Given the description of an element on the screen output the (x, y) to click on. 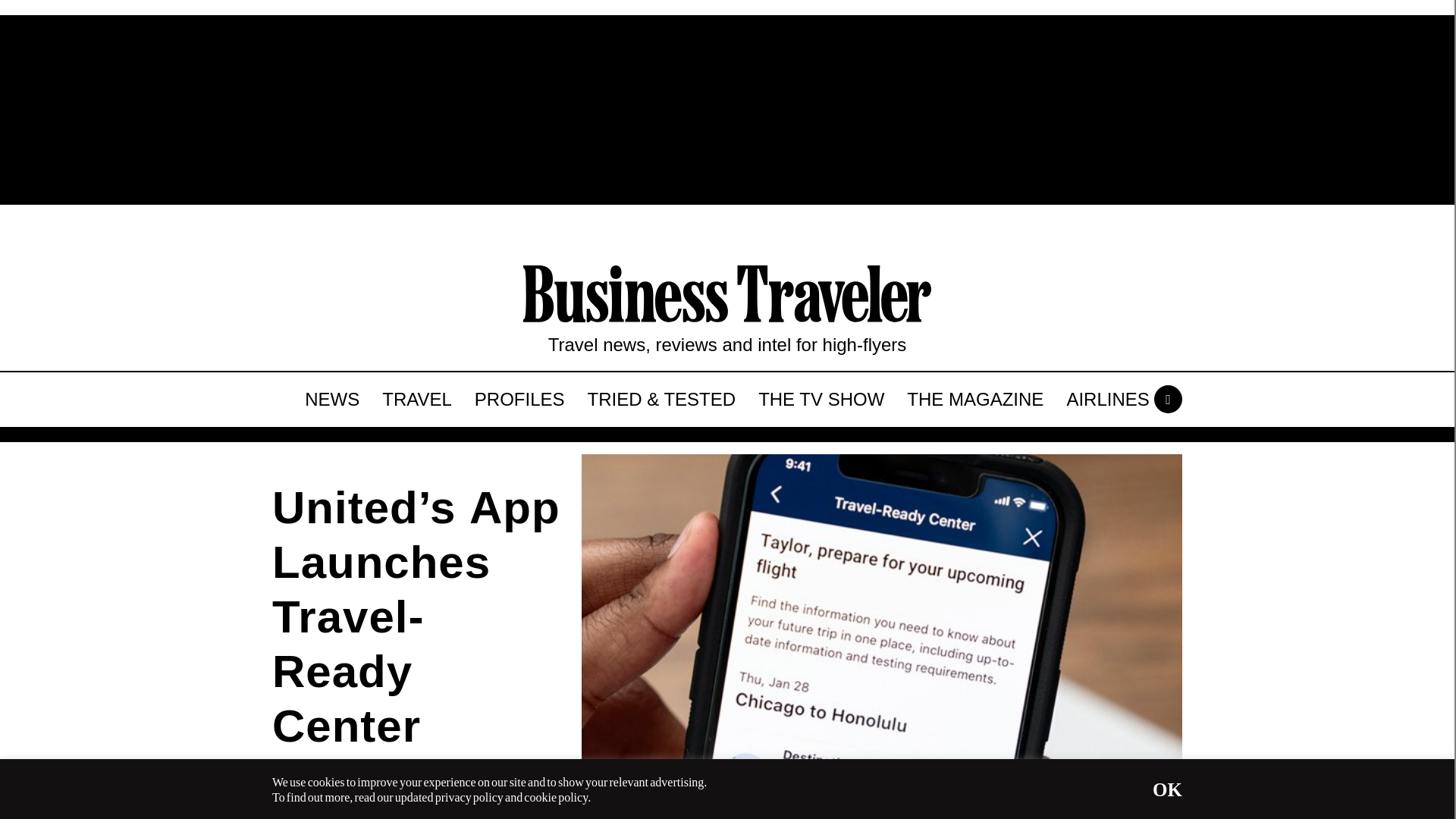
THE MAGAZINE (974, 399)
AIRLINES (1107, 399)
PROFILES (519, 399)
NEWS (332, 399)
TRAVEL (417, 399)
THE TV SHOW (820, 399)
